Given the description of an element on the screen output the (x, y) to click on. 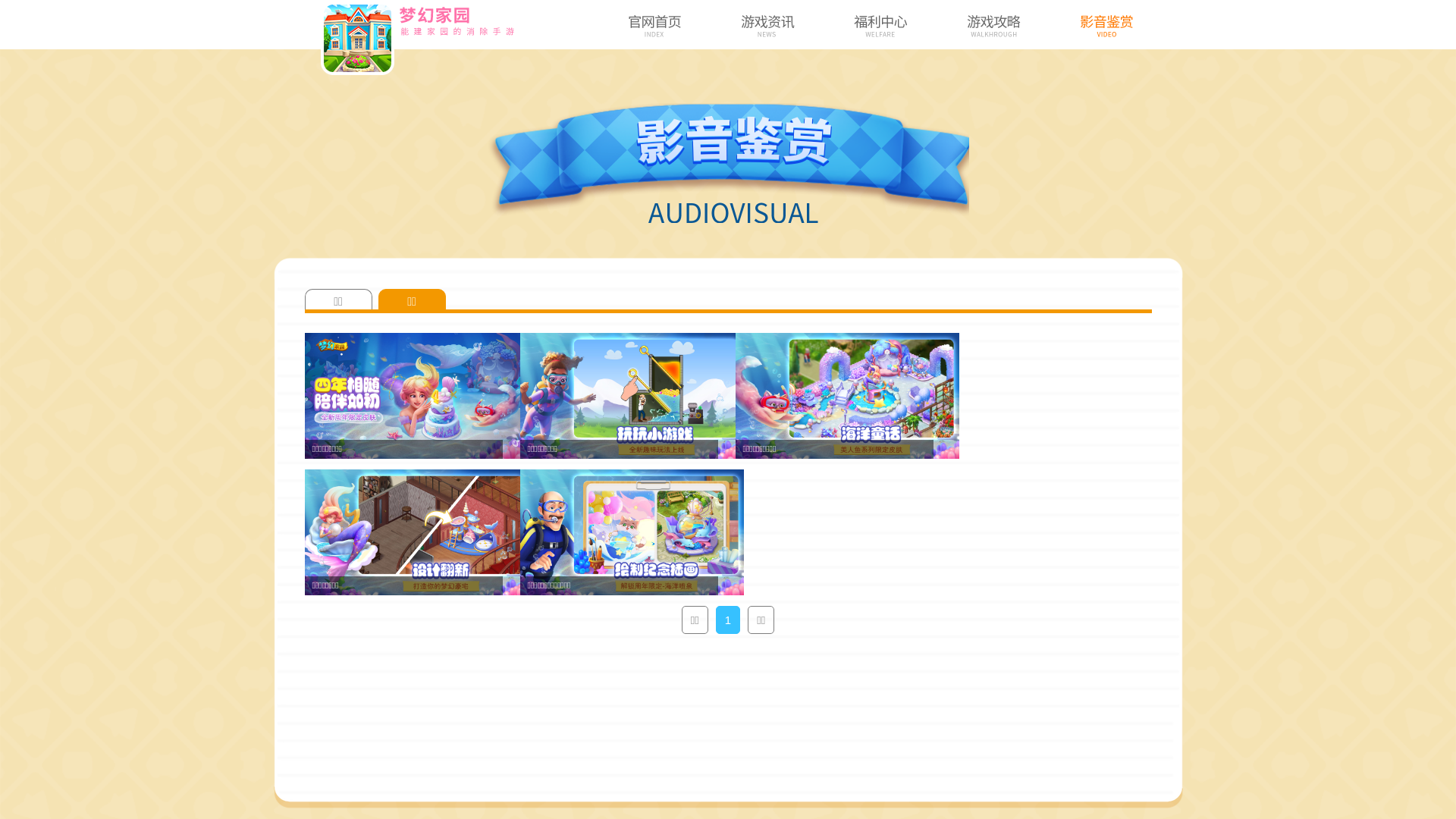
1 Element type: text (727, 619)
